Given the description of an element on the screen output the (x, y) to click on. 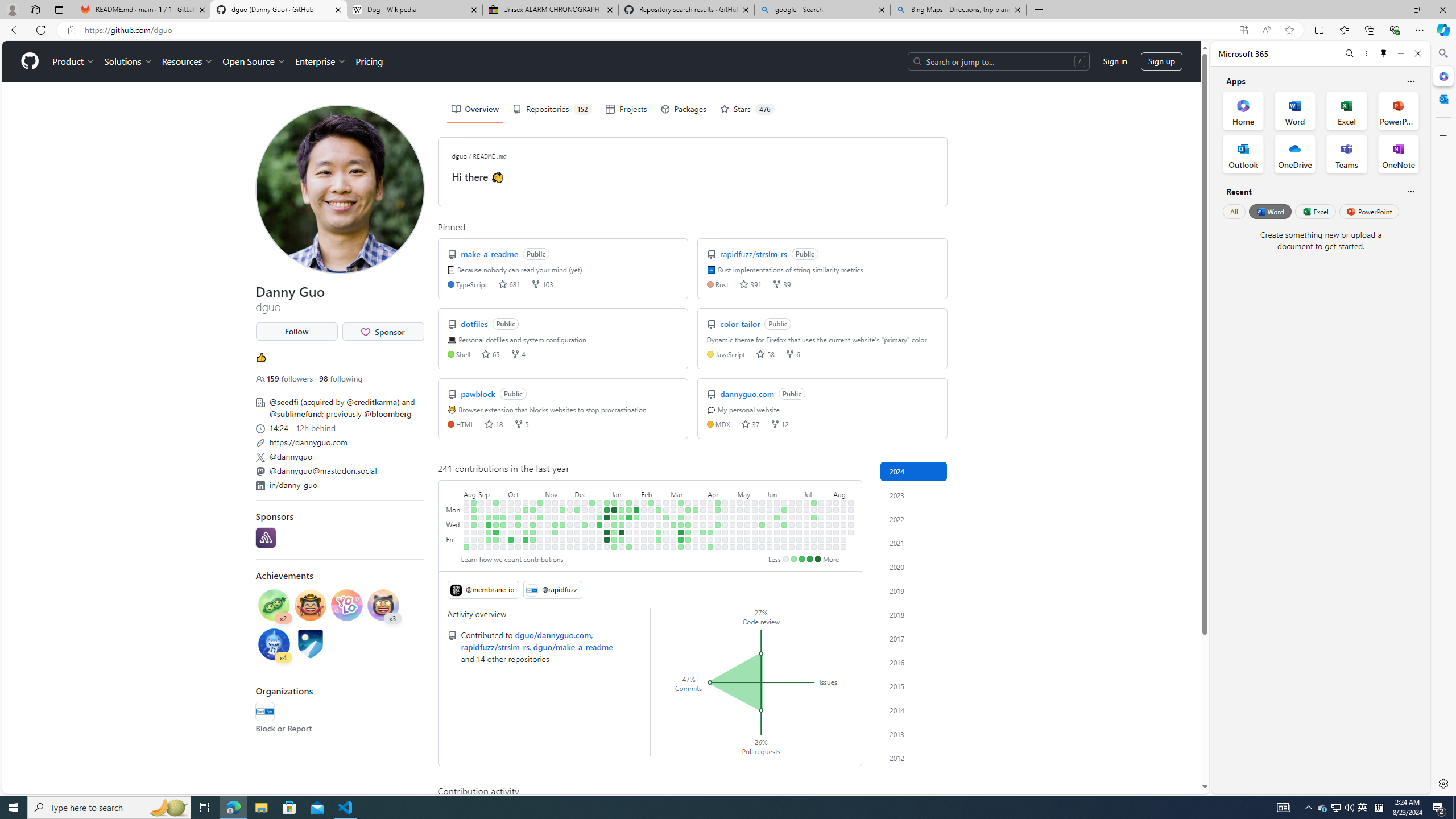
No contributions on June 2nd. (770, 502)
4 contributions on September 21st. (496, 531)
No contributions on July 5th. (799, 539)
No contributions on March 9th. (674, 546)
2020 (913, 566)
Enterprise (319, 60)
No contributions on May 15th. (747, 524)
No contributions on December 18th. (592, 509)
No contributions on April 23rd. (725, 517)
No contributions on July 21st. (821, 502)
2 contributions on August 30th. (473, 524)
No contributions on August 7th. (836, 524)
No contributions on December 24th. (599, 502)
